Given the description of an element on the screen output the (x, y) to click on. 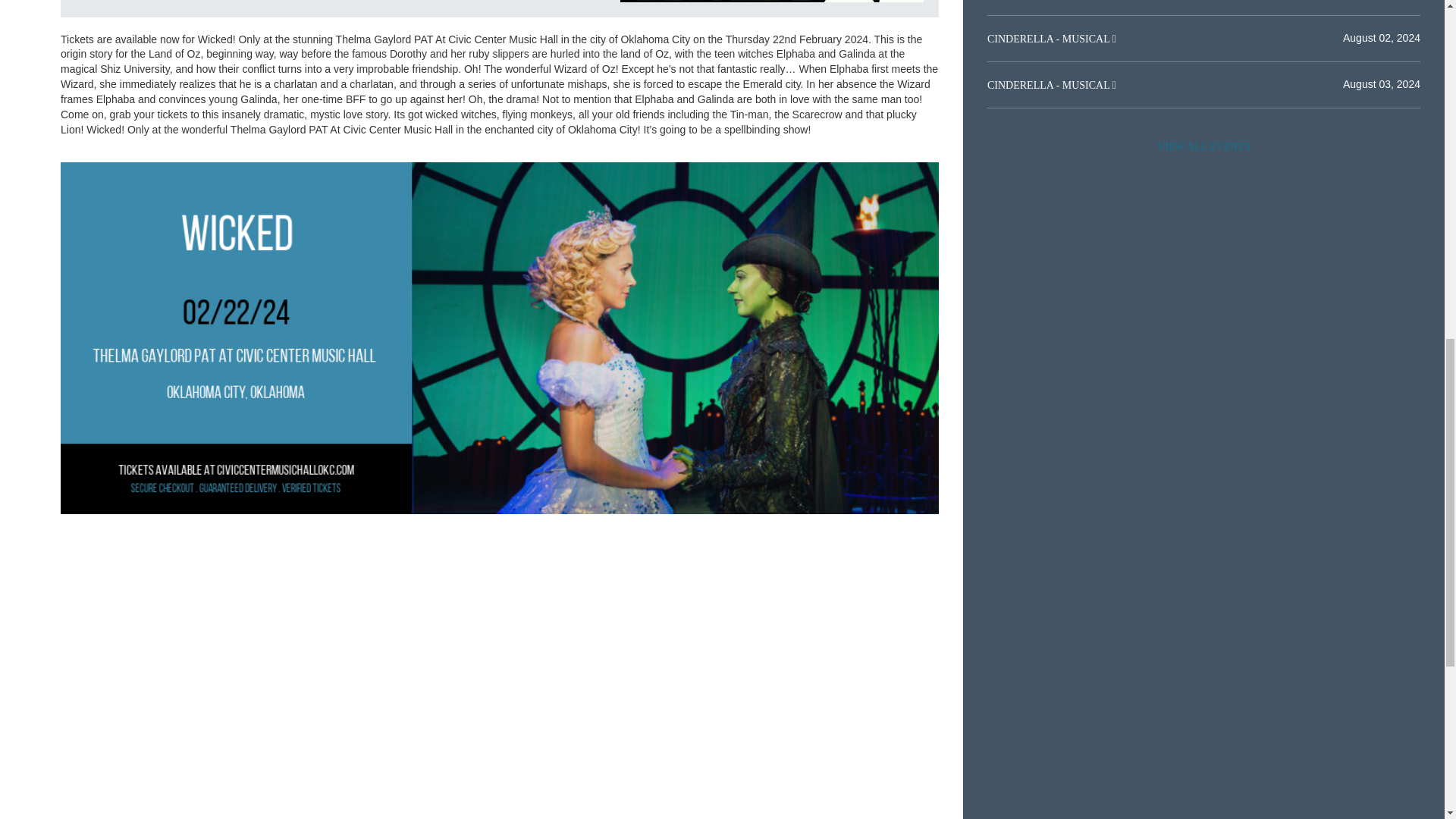
CINDERELLA - MUSICAL (1049, 84)
CINDERELLA - MUSICAL (1049, 39)
VIEW ALL EVENTS (1203, 146)
